Given the description of an element on the screen output the (x, y) to click on. 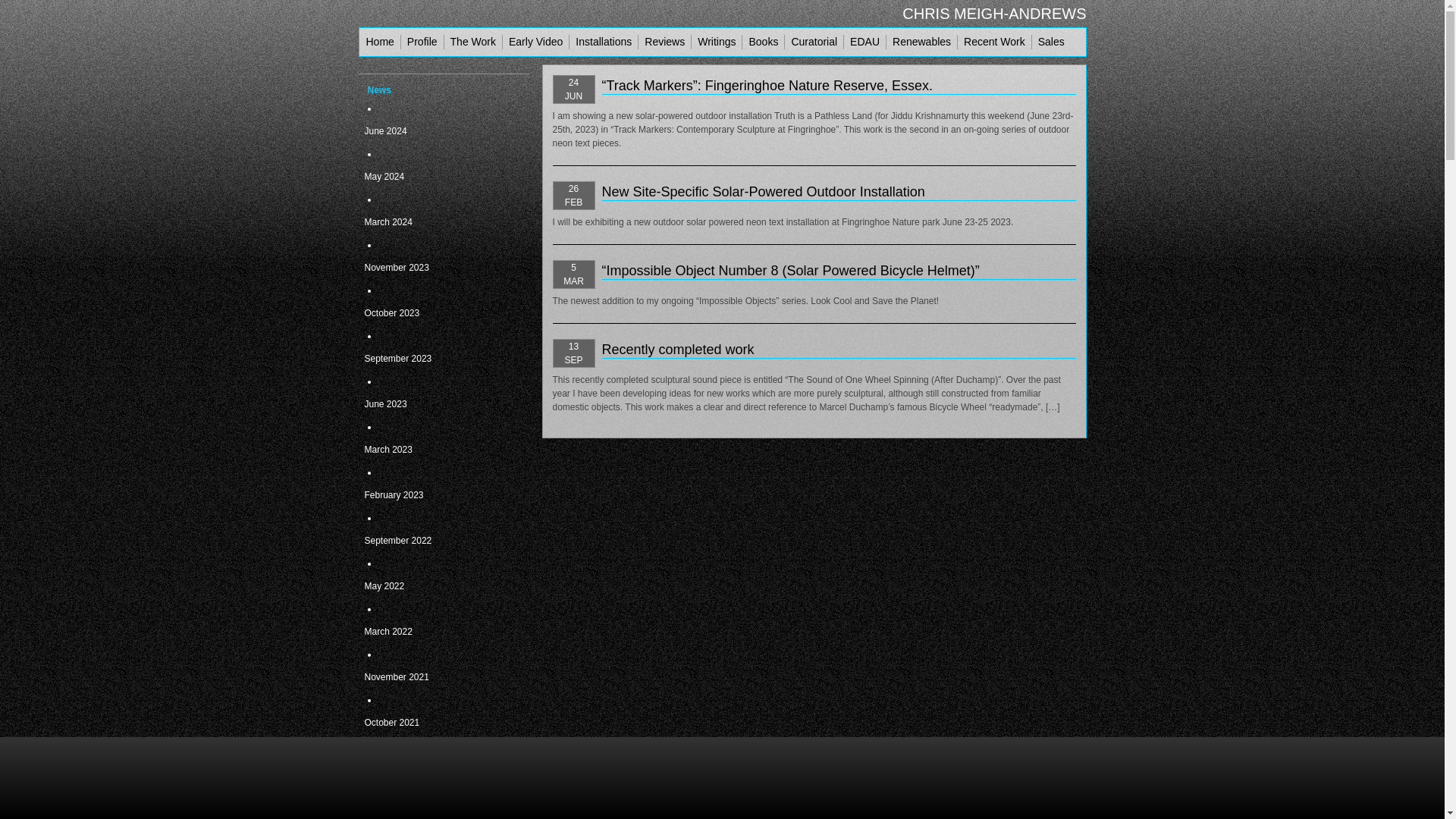
Sales (1051, 42)
June 2023 (434, 404)
November 2021 (434, 676)
July 2021 (434, 810)
May 2022 (434, 585)
New Site-Specific Solar-Powered Outdoor Installation (763, 191)
Chris Meigh-Andrews (994, 13)
February 2023 (434, 495)
Writings (716, 42)
The Work (472, 42)
September 2022 (434, 540)
March 2024 (434, 221)
Books (762, 42)
March 2022 (434, 630)
October 2023 (434, 313)
